Given the description of an element on the screen output the (x, y) to click on. 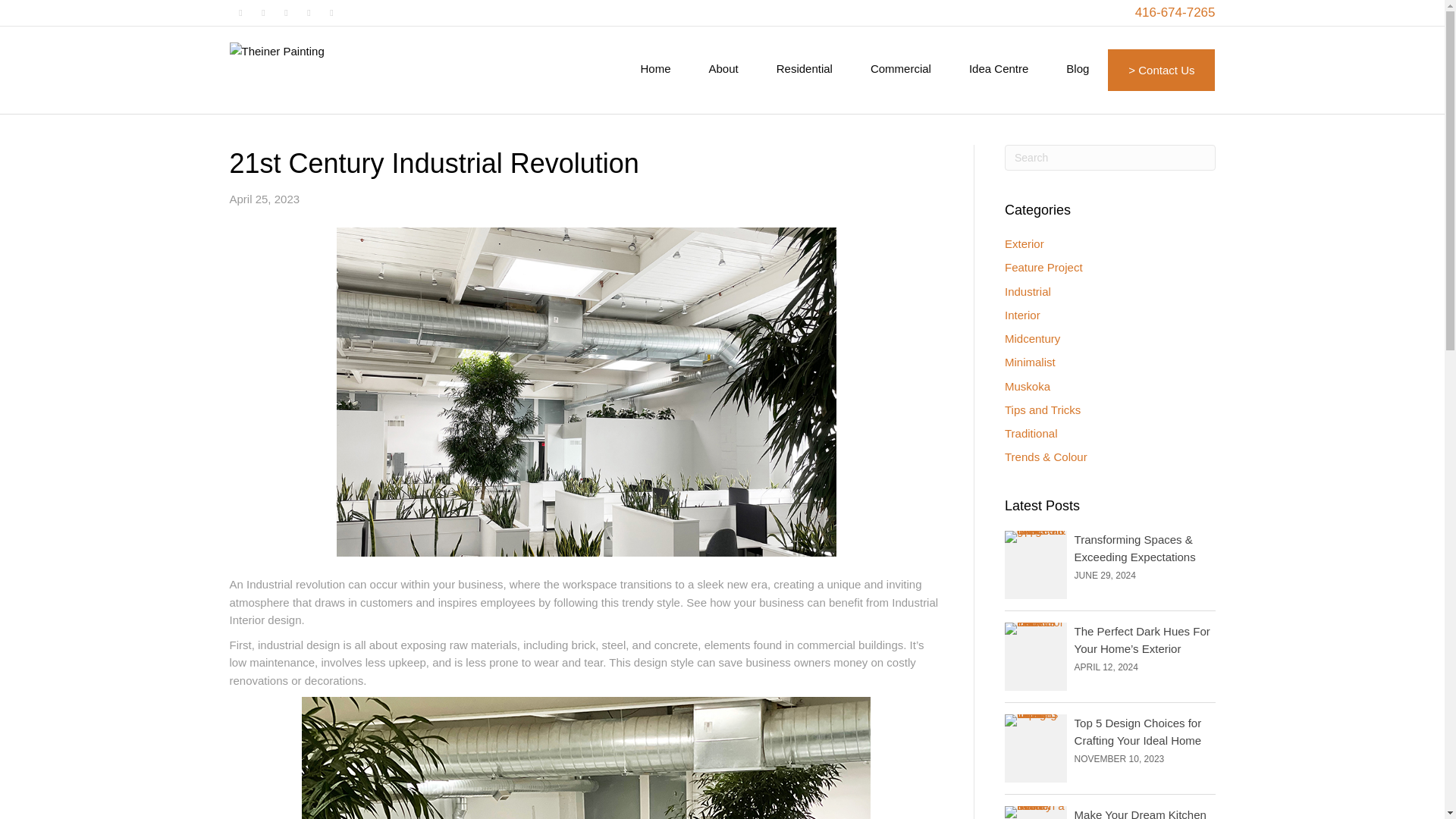
416-674-7265 (1174, 13)
Make Your Dream Kitchen a Reality (1140, 813)
Midcentury (1031, 338)
Interior (1022, 314)
Blog (1077, 68)
Linkedin (286, 13)
Pinterest (308, 13)
Twitter (263, 13)
Industrial (1027, 291)
Home (654, 68)
Type and press Enter to search. (1109, 157)
Instagram (331, 13)
About (723, 68)
Top 5 Design Choices for Crafting Your Ideal Home (1138, 731)
Feature Project (1043, 267)
